Given the description of an element on the screen output the (x, y) to click on. 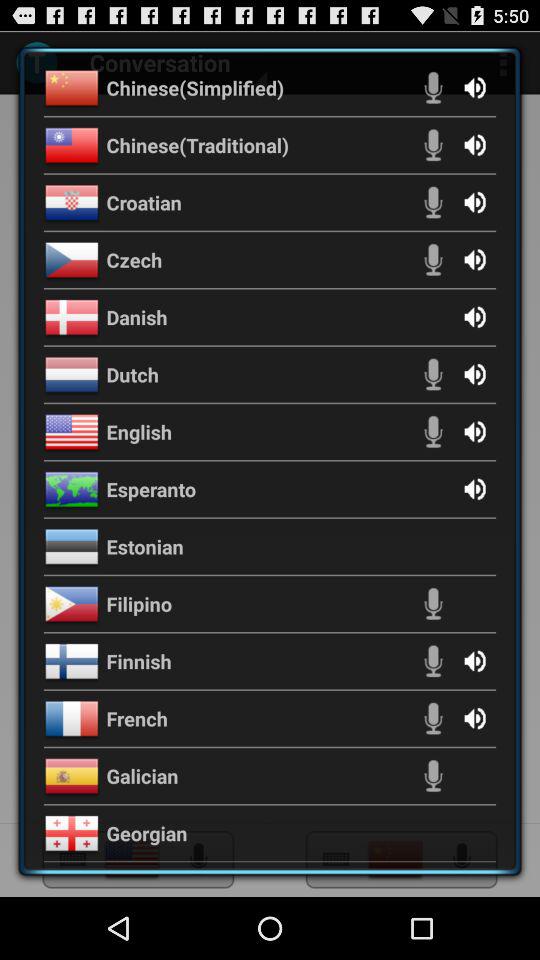
click the item below esperanto (144, 546)
